Given the description of an element on the screen output the (x, y) to click on. 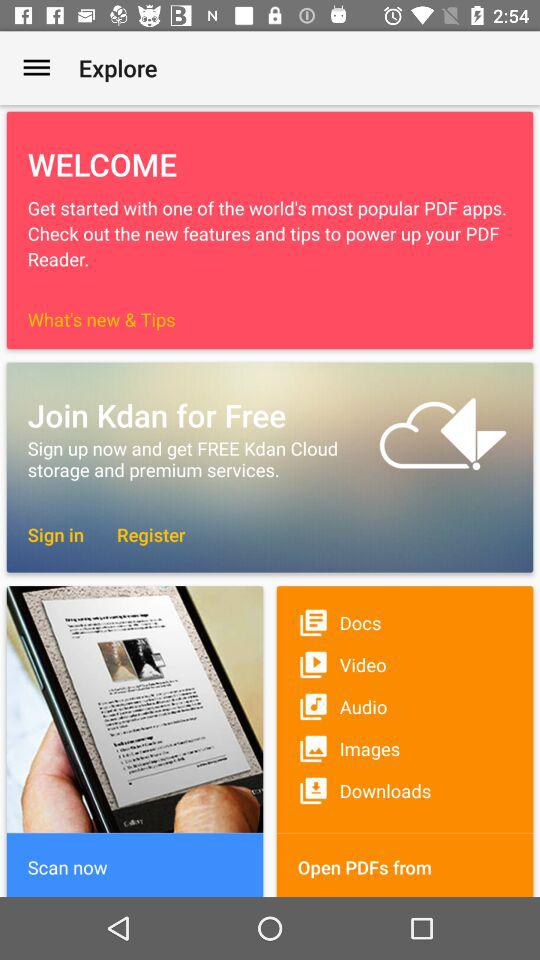
swipe until the register item (141, 534)
